Given the description of an element on the screen output the (x, y) to click on. 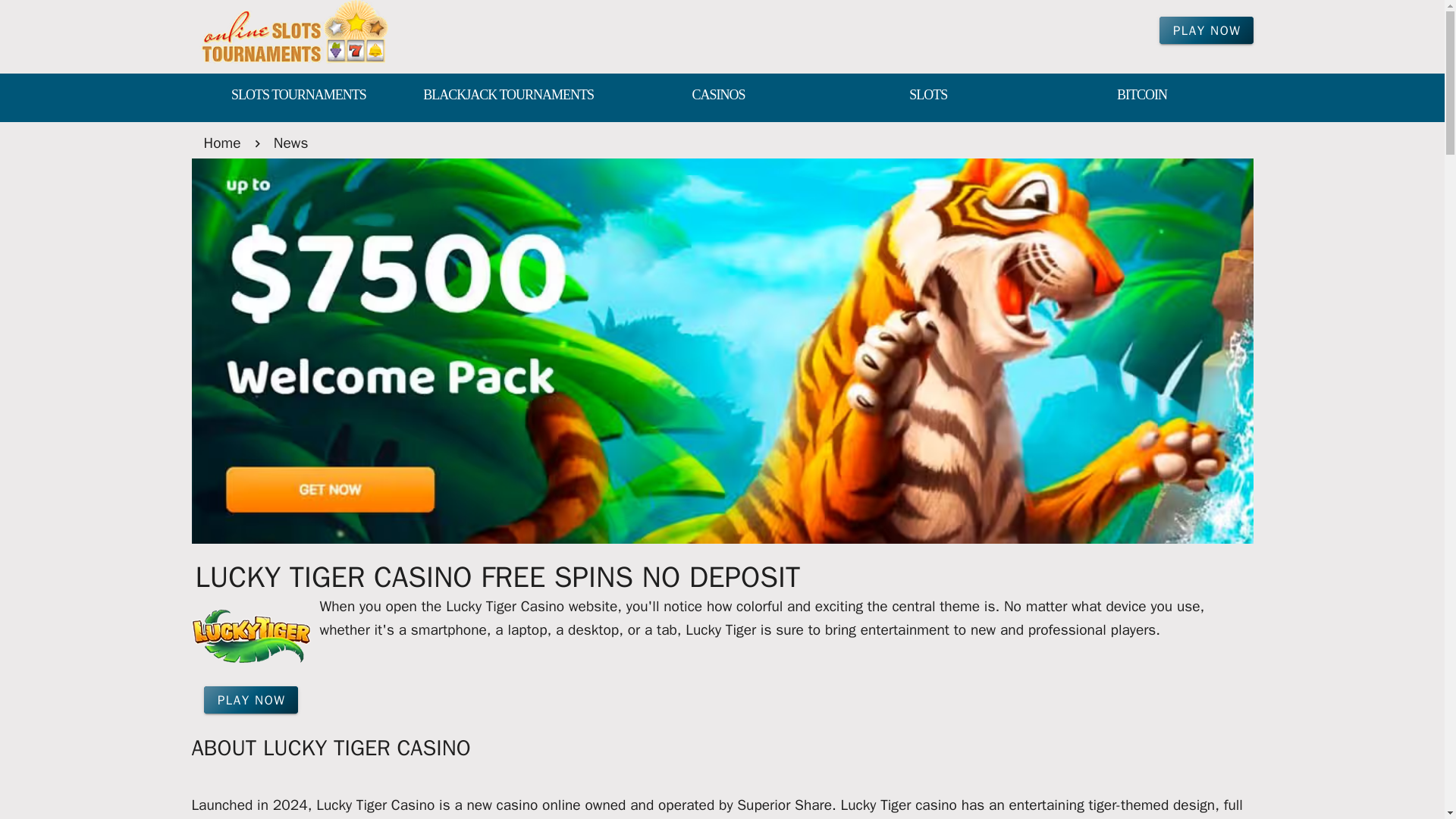
BITCOIN (1141, 95)
News (290, 143)
SLOTS (928, 95)
SLOTS TOURNAMENTS (297, 95)
BLACKJACK TOURNAMENTS (508, 95)
PLAY NOW (250, 699)
PLAY NOW (1205, 30)
Home (221, 143)
CASINOS (718, 95)
